Given the description of an element on the screen output the (x, y) to click on. 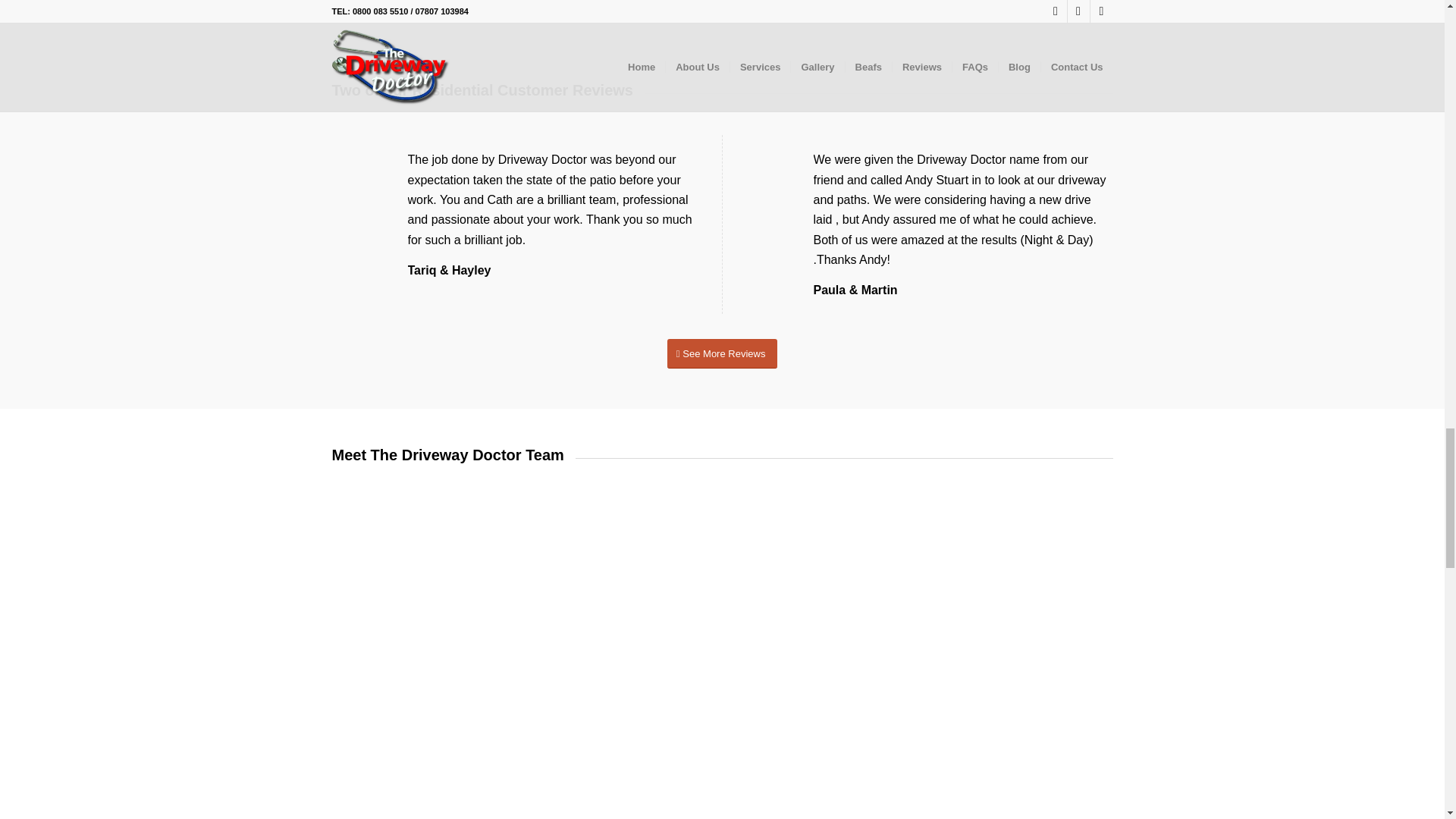
See More Reviews (721, 353)
Tavelodge-logo (887, 12)
Mcdonalds-logo-slider (390, 4)
